Given the description of an element on the screen output the (x, y) to click on. 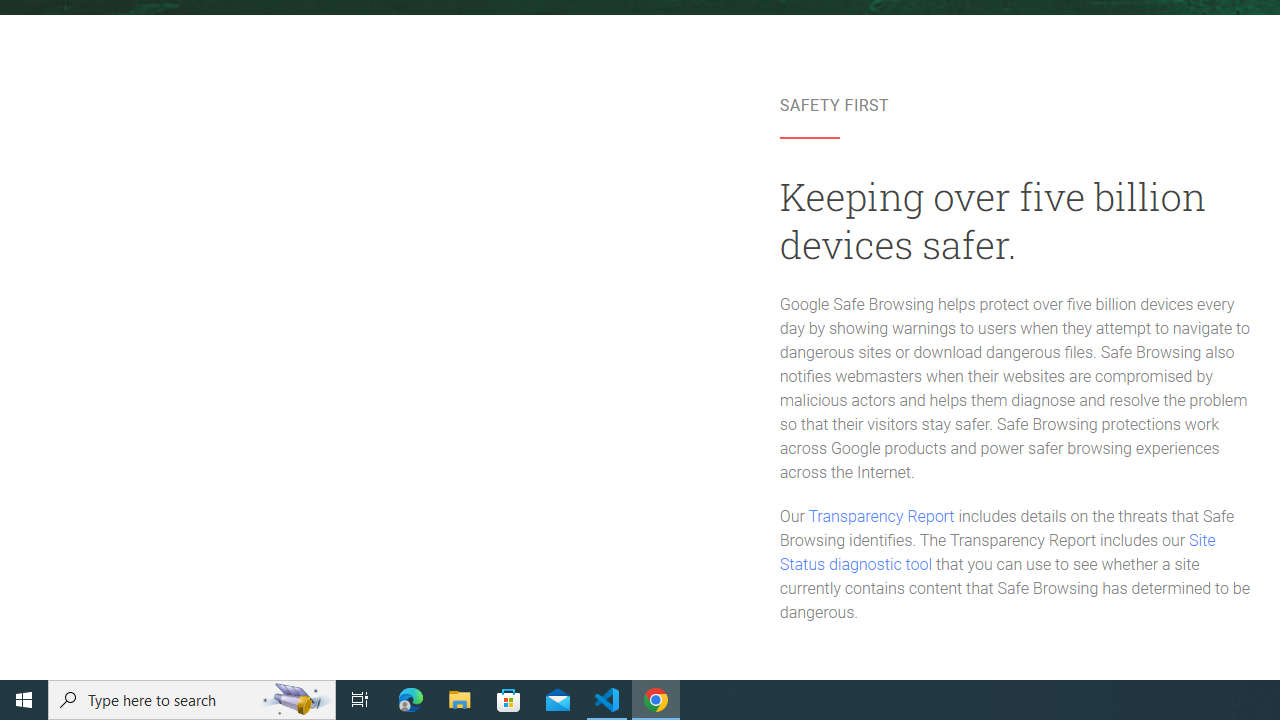
Site Status diagnostic tool (997, 553)
Transparency Report (880, 516)
